Given the description of an element on the screen output the (x, y) to click on. 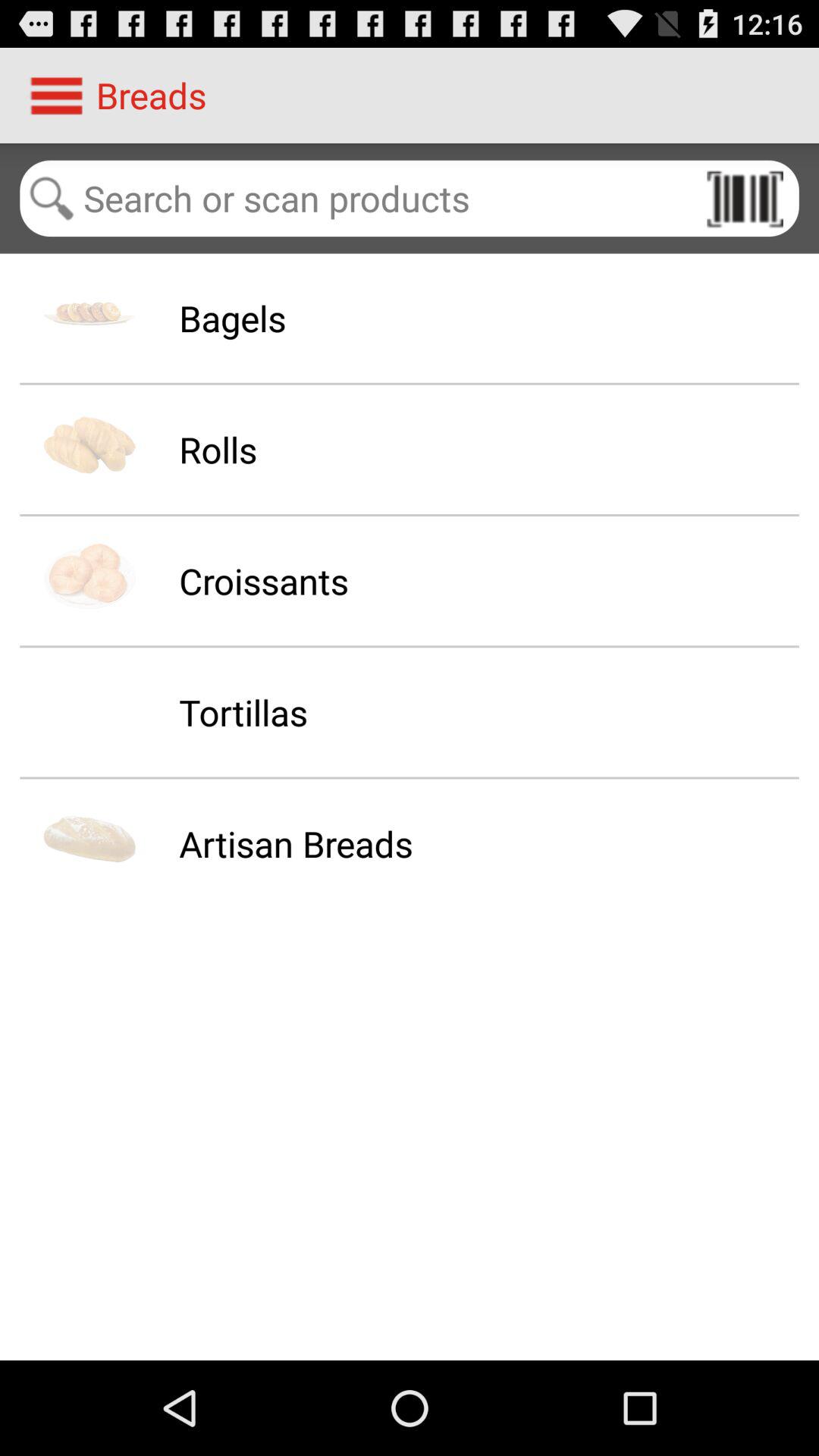
turn on the item below the rolls icon (263, 580)
